Given the description of an element on the screen output the (x, y) to click on. 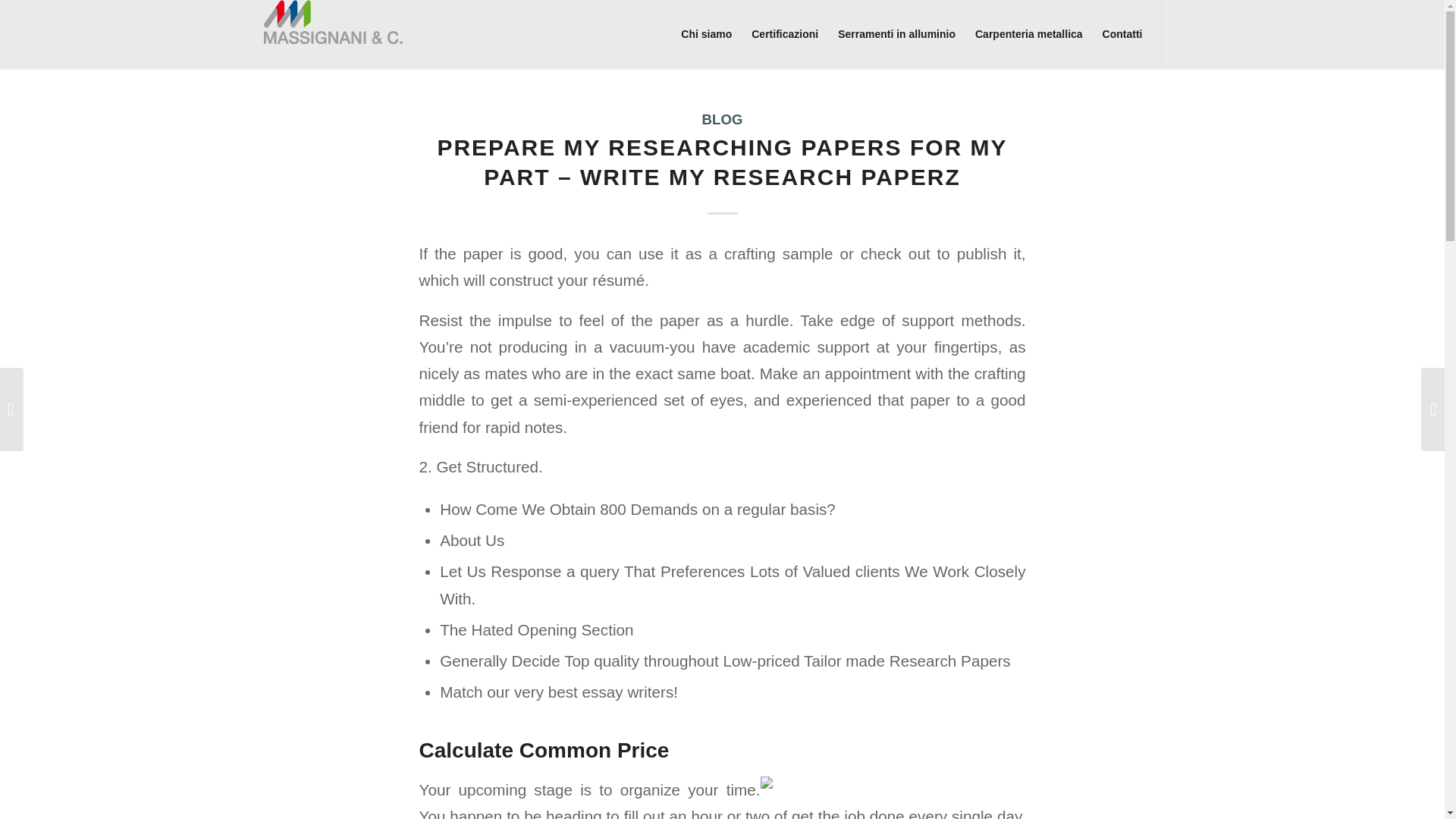
Chi siamo (706, 33)
Certificazioni (784, 33)
BLOG (721, 119)
Carpenteria metallica (1029, 33)
Serramenti in alluminio (896, 33)
